Given the description of an element on the screen output the (x, y) to click on. 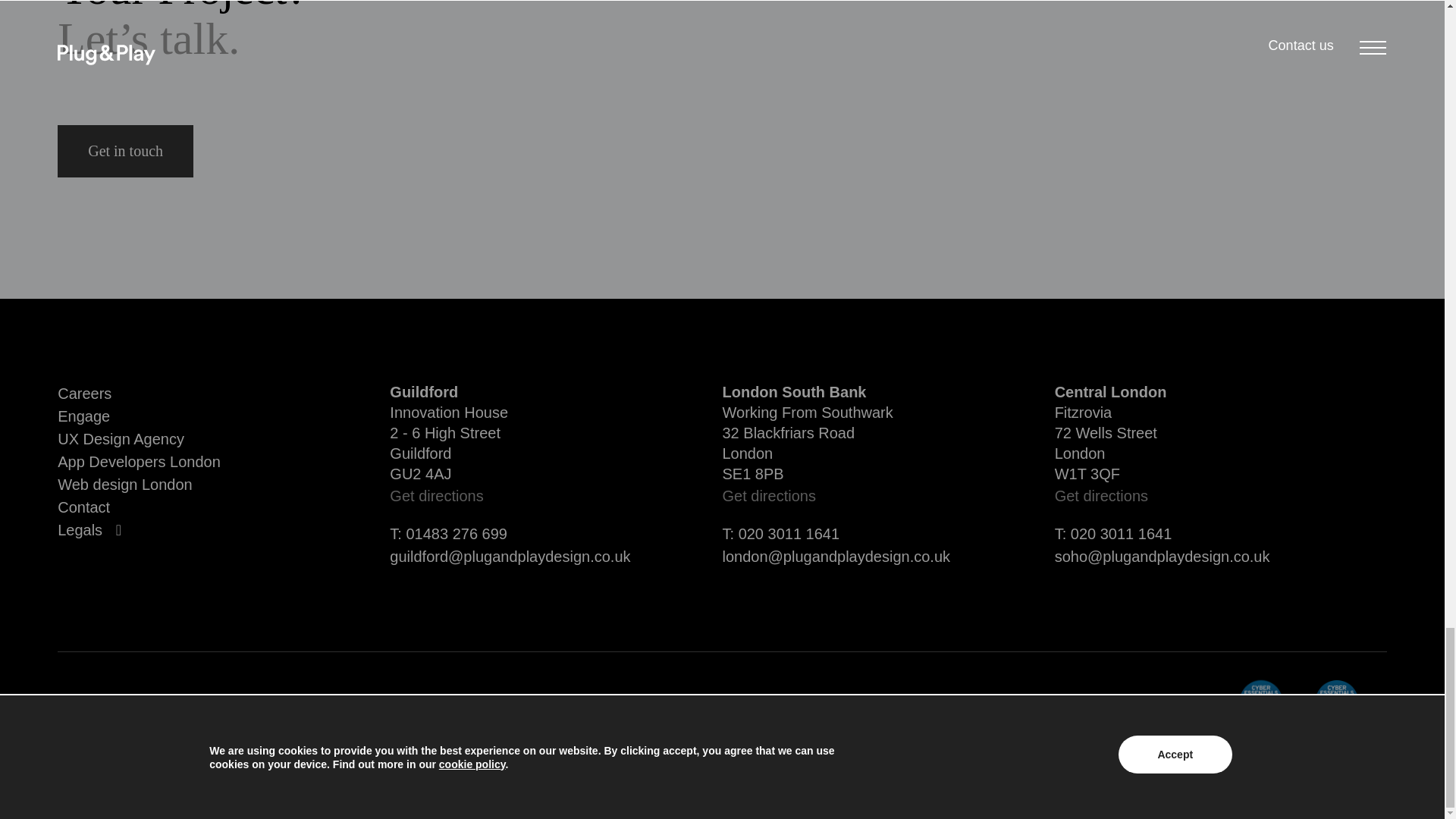
01483 276 699 (456, 533)
Instagram (1290, 769)
Get directions (888, 495)
Legals (79, 529)
Get directions (556, 495)
Get directions (1220, 495)
Careers (224, 393)
Engage (224, 415)
Dribbble (1361, 769)
LinkedIn (1218, 769)
UX Design Agency (224, 438)
Contact (224, 507)
App Developers London (224, 461)
020 3011 1641 (789, 533)
020 3011 1641 (1121, 533)
